Given the description of an element on the screen output the (x, y) to click on. 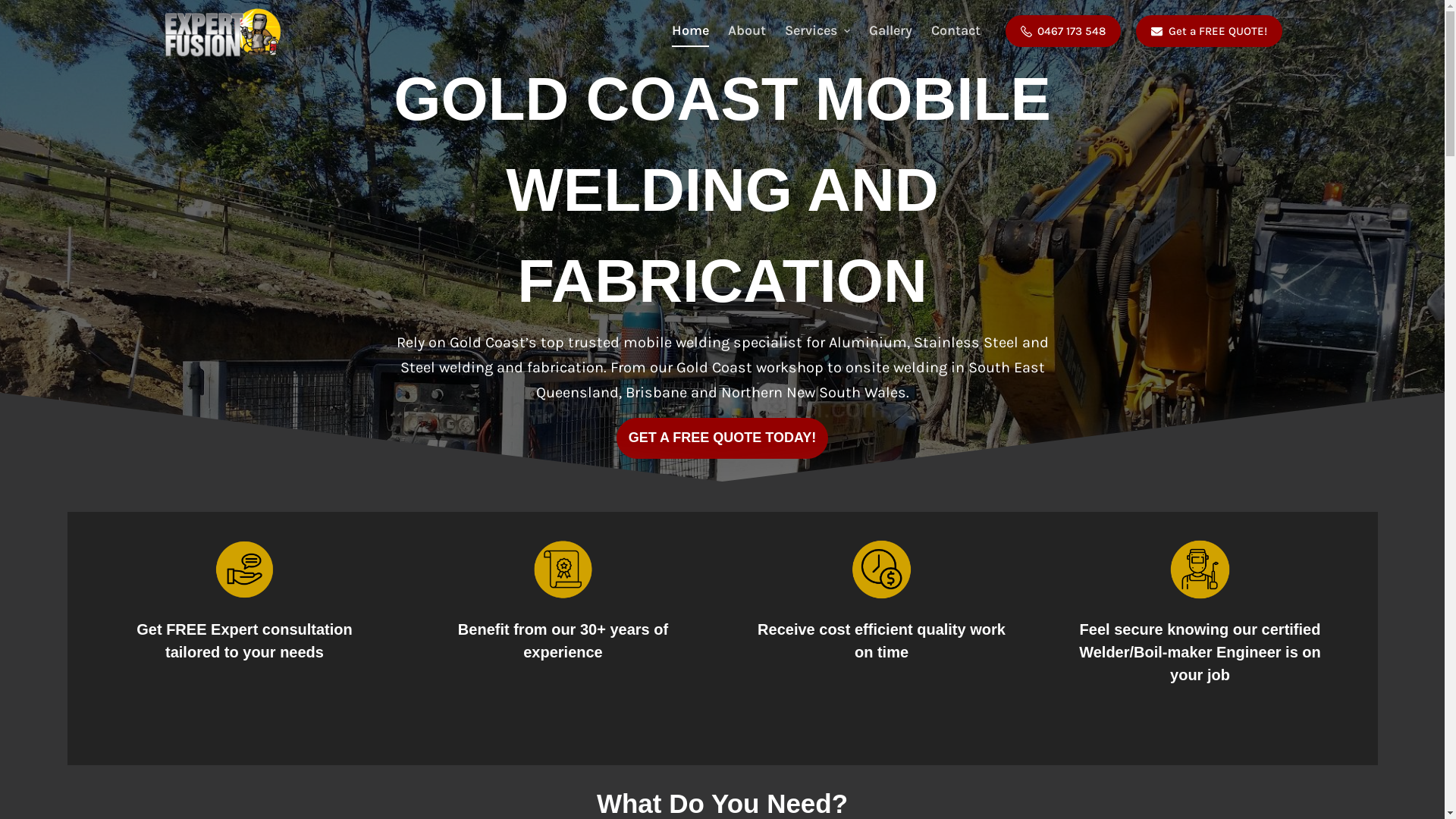
Mobile Welder Tweed Heads (2485) Element type: text (643, 677)
0467 173 548 Element type: text (1063, 31)
Home Element type: text (690, 30)
Mobile Welder Southport (4215/4222) Element type: text (650, 716)
Mobile Welder Nerang (4211) Element type: text (624, 656)
Mobile Welder Coomera (4209) Element type: text (633, 697)
Mobile Welder Burleigh Heads (4220) Element type: text (264, 697)
Mobile Welder Murwillumbah (2484) Element type: text (648, 737)
About Element type: text (746, 30)
Mobile Welder Gold Coast Element type: text (231, 656)
Services Element type: text (817, 30)
Mobile Welder Currumbin (4223) Element type: text (252, 737)
Skip to content Element type: text (15, 7)
Gallery Element type: text (890, 30)
GET A FREE QUOTE TODAY! Element type: text (722, 437)
Get a FREE QUOTE! Element type: text (1208, 31)
Mobile Welding Brisbane Element type: text (230, 677)
Mobile Welder Byron Bay (2481) Element type: text (247, 716)
Contact Element type: text (956, 30)
